Given the description of an element on the screen output the (x, y) to click on. 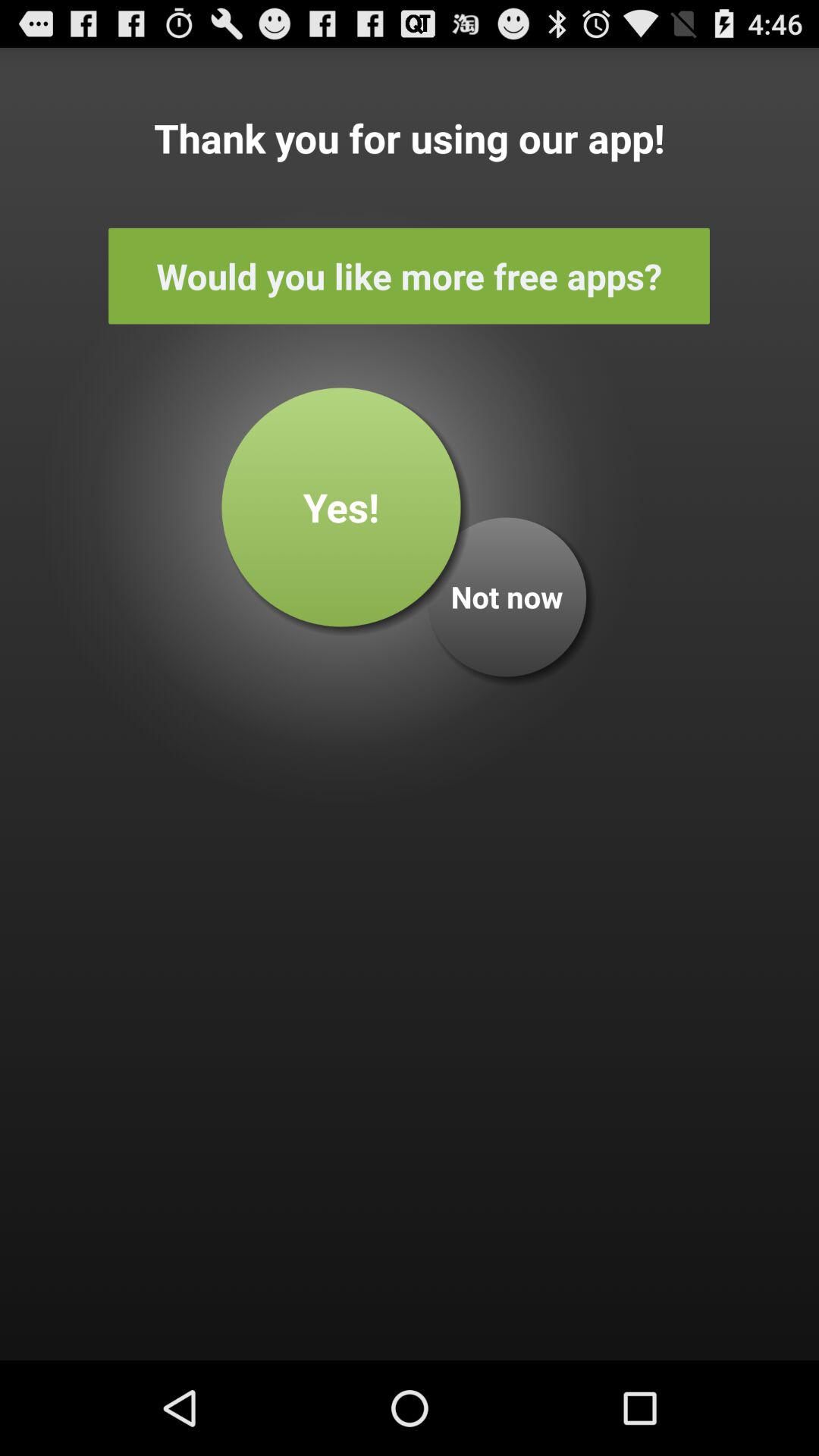
launch the app below the would you like (506, 596)
